Given the description of an element on the screen output the (x, y) to click on. 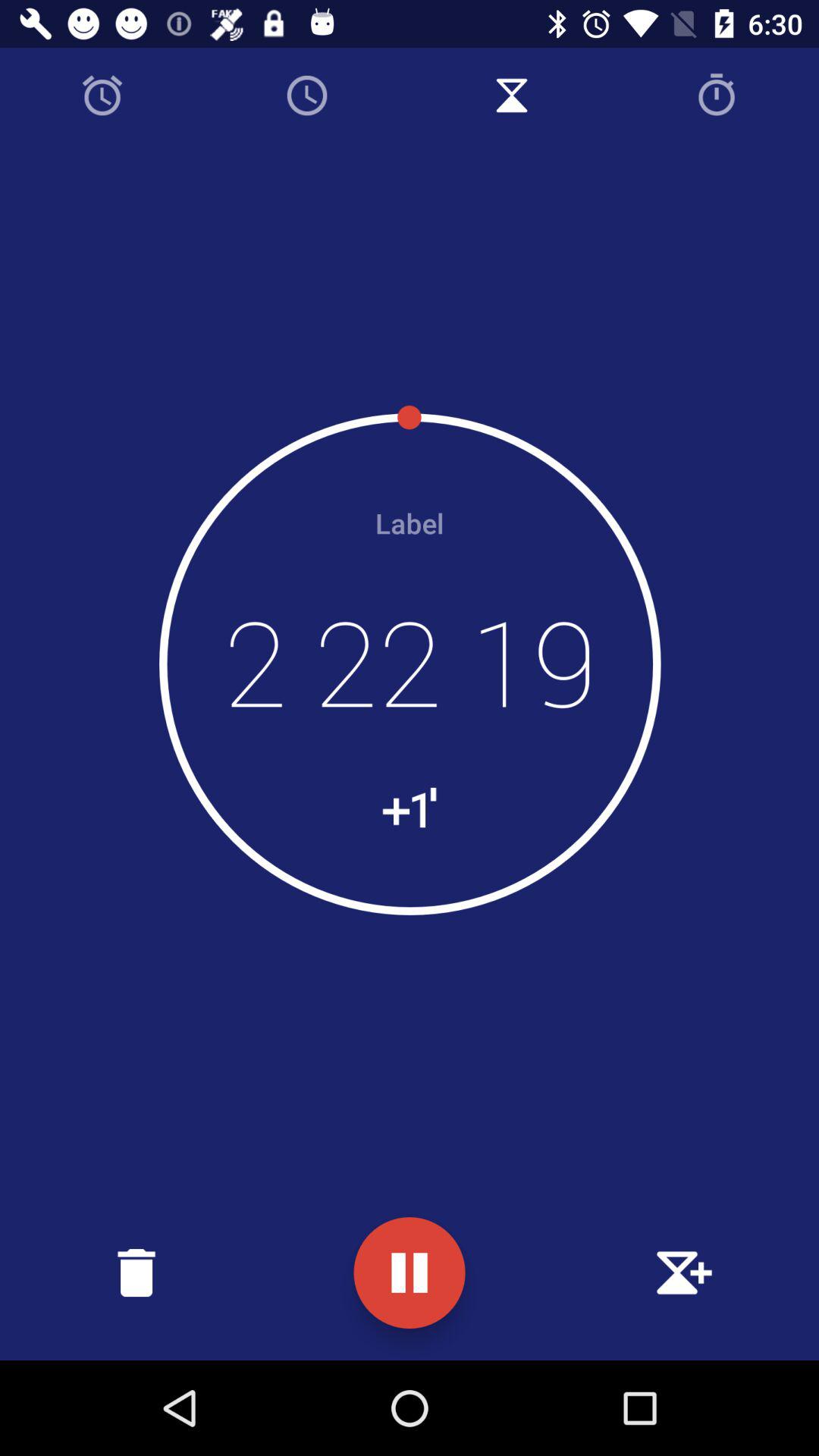
turn off icon at the bottom right corner (682, 1272)
